Given the description of an element on the screen output the (x, y) to click on. 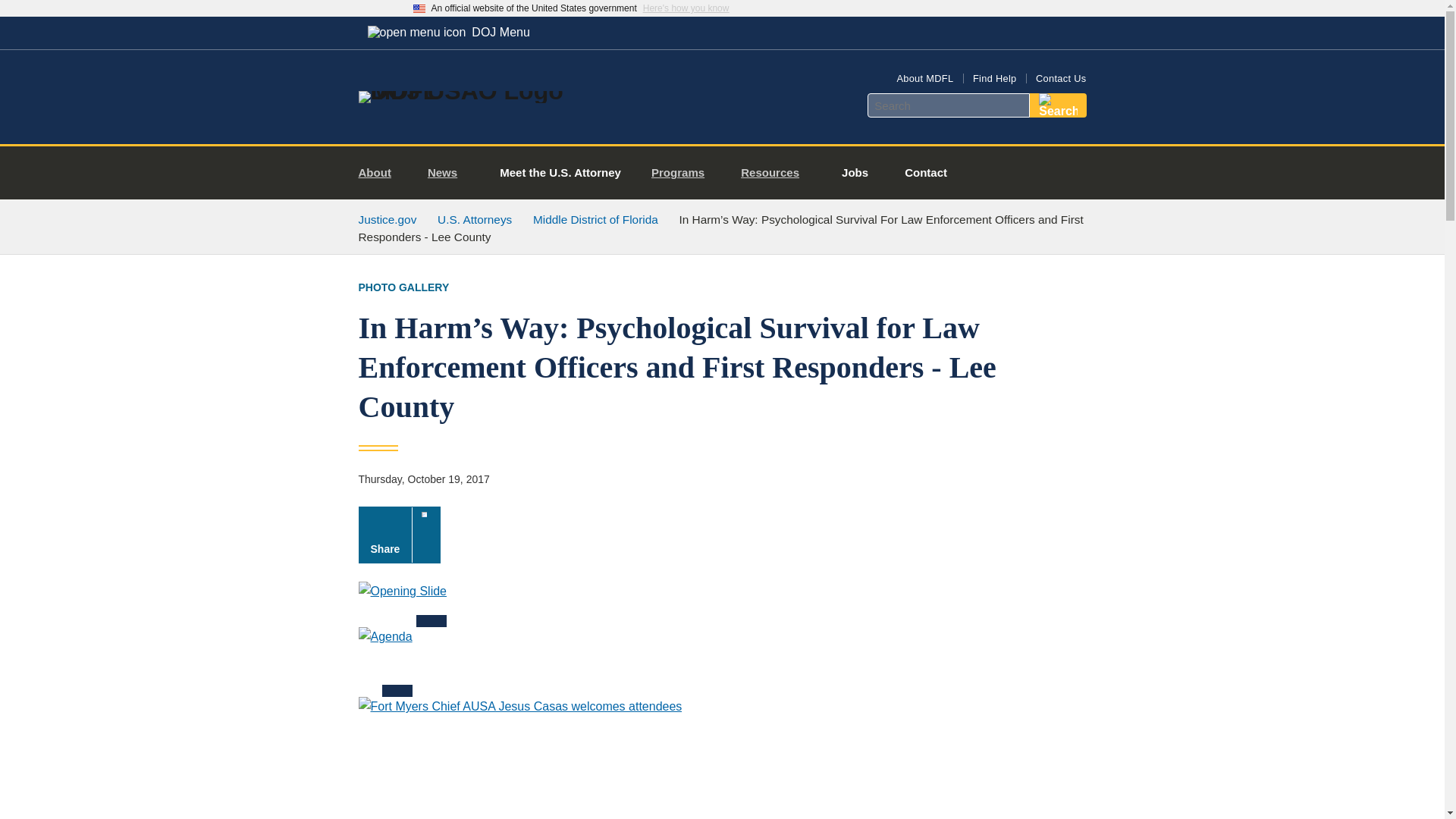
Share (398, 534)
Middle District of Florida (595, 219)
Fort Myers Chief AUSA Jesus Casas welcomes attendees (519, 757)
Jobs (855, 172)
Resources (776, 172)
Find Help (994, 78)
Meet the U.S. Attorney (560, 172)
Here's how you know (686, 8)
About MDFL (924, 78)
Programs (684, 172)
DOJ Menu (448, 32)
Opening Slide (402, 604)
Home (481, 90)
Contact (925, 172)
Agenda (385, 661)
